Given the description of an element on the screen output the (x, y) to click on. 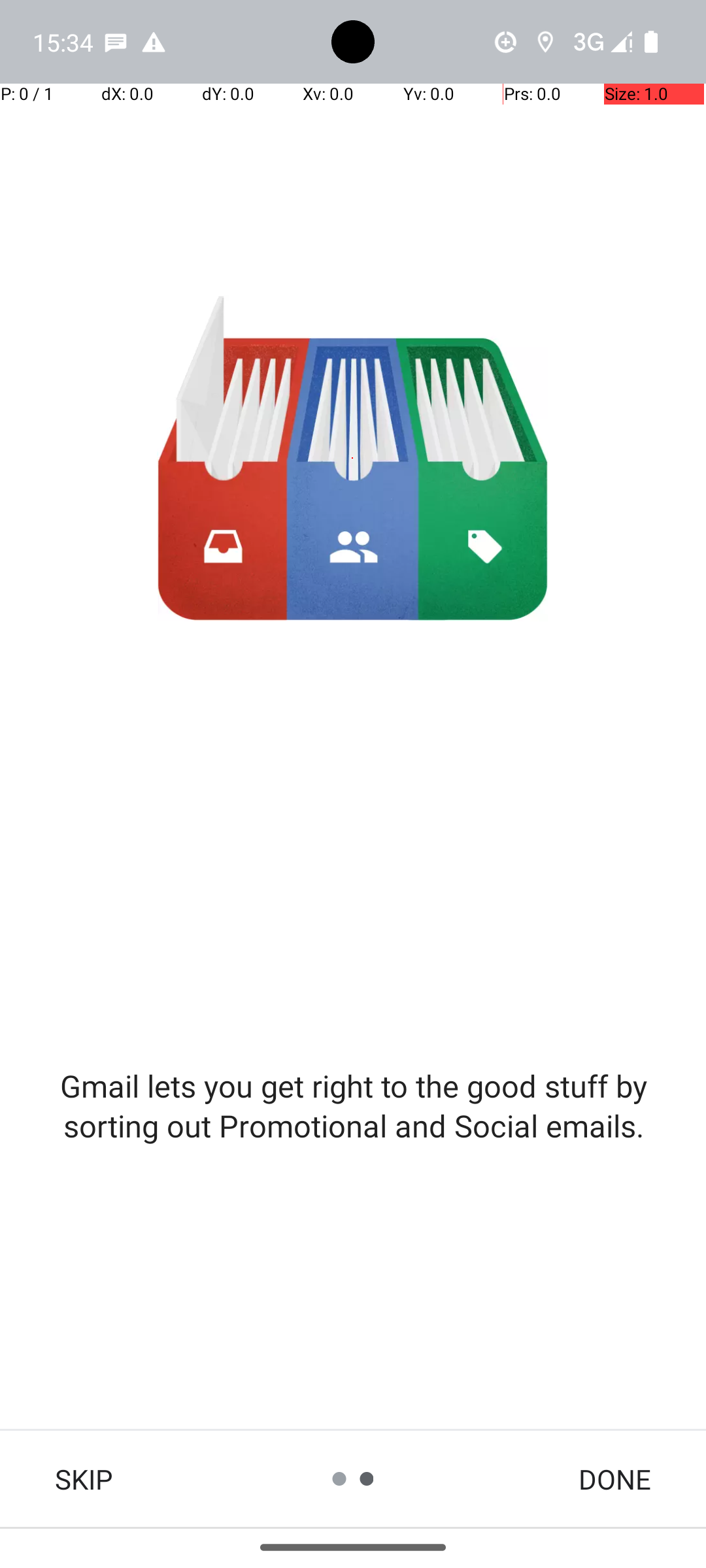
SKIP Element type: android.widget.TextView (83, 1478)
DONE Element type: android.widget.TextView (614, 1478)
Gmail lets you get right to the good stuff by sorting out Promotional and Social emails. Element type: android.widget.TextView (352, 1105)
